Given the description of an element on the screen output the (x, y) to click on. 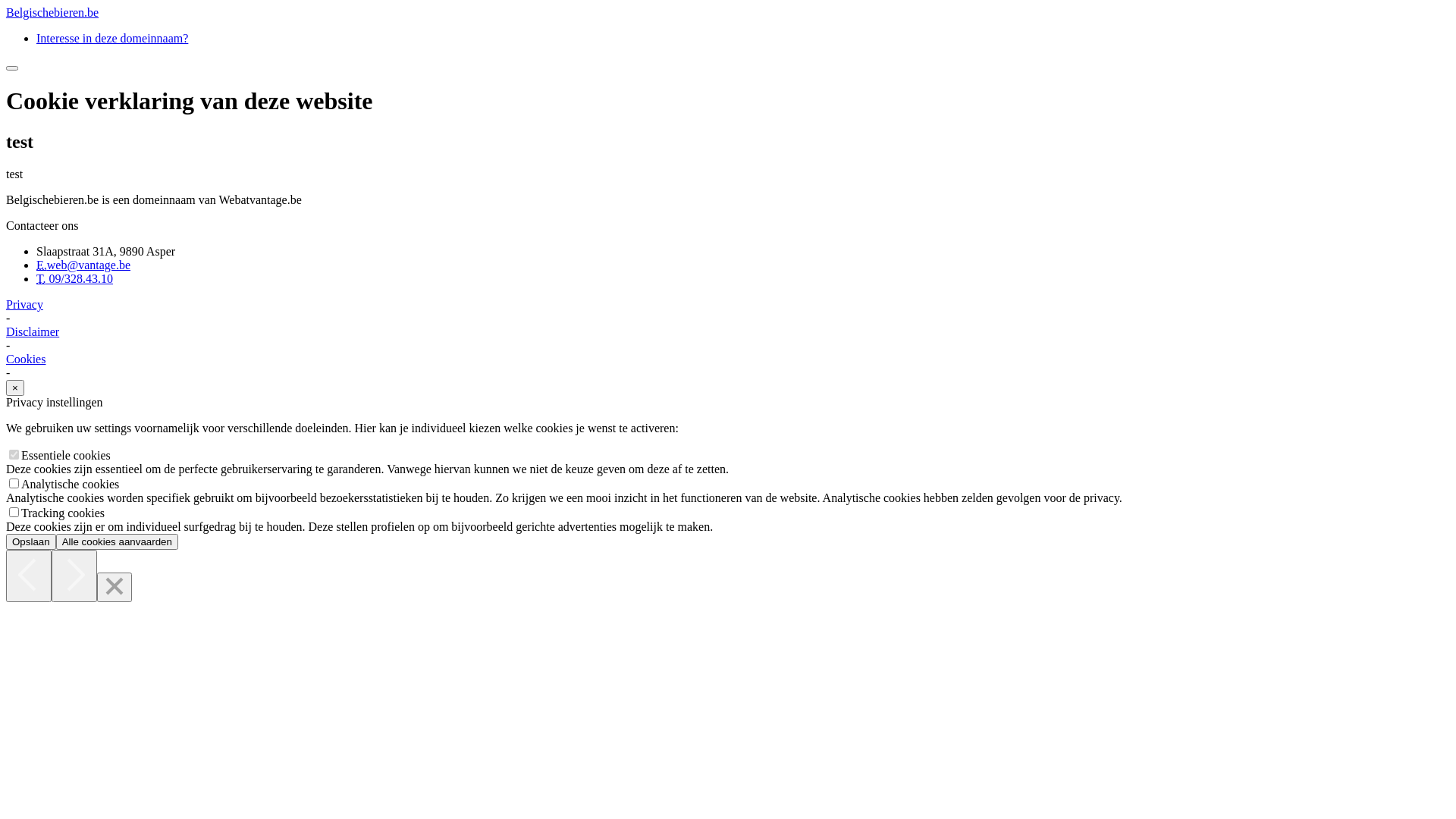
Alle cookies aanvaarden Element type: text (117, 541)
T. 09/328.43.10 Element type: text (74, 278)
Cookies Element type: text (25, 358)
E.web@vantage.be Element type: text (83, 264)
Belgischebieren.be Element type: text (52, 12)
Disclaimer Element type: text (32, 331)
Interesse in deze domeinnaam? Element type: text (112, 37)
Opslaan Element type: text (31, 541)
Privacy Element type: text (24, 304)
